Given the description of an element on the screen output the (x, y) to click on. 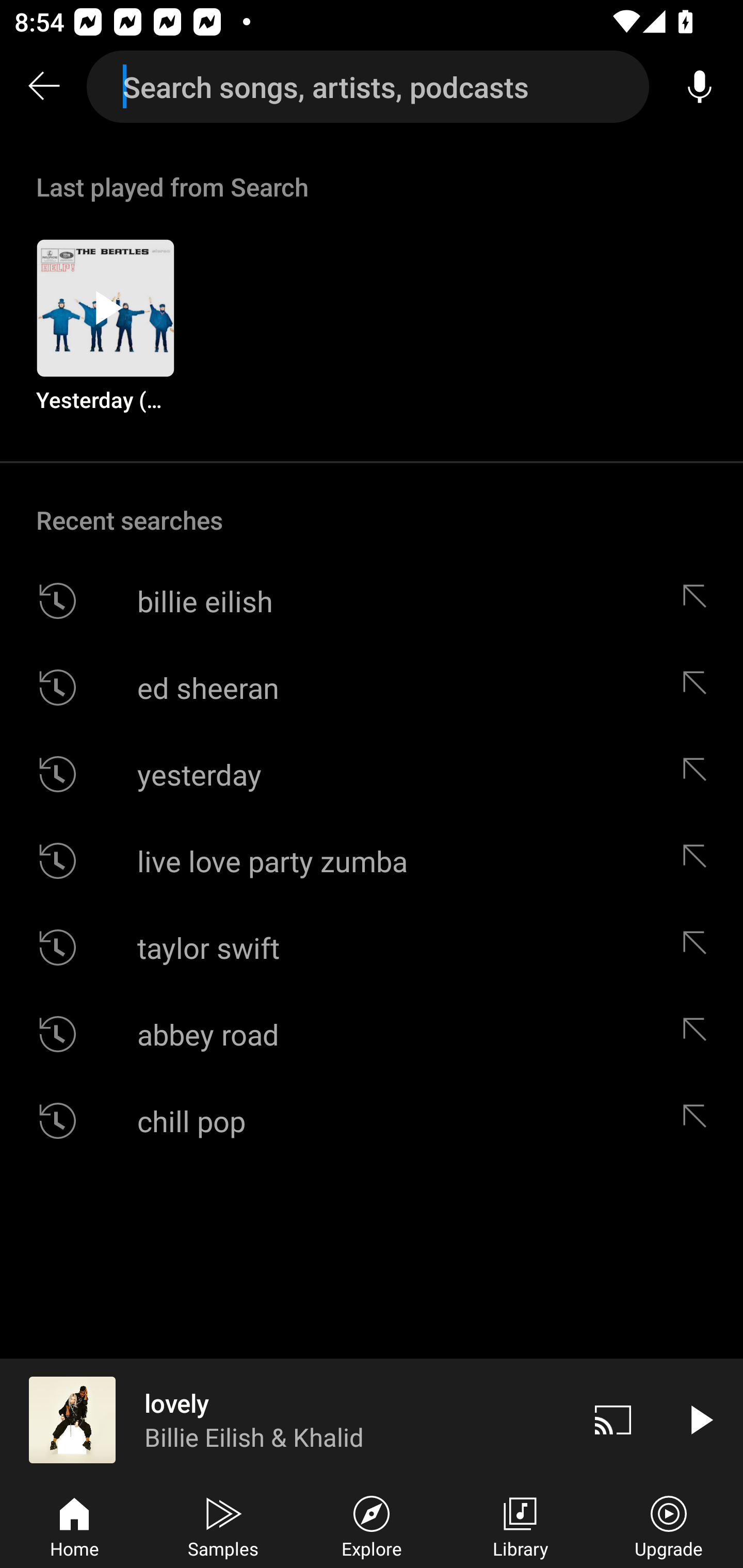
Search back (43, 86)
Search songs, artists, podcasts (367, 86)
Voice search (699, 86)
billie eilish Edit suggestion billie eilish (371, 601)
Edit suggestion billie eilish (699, 601)
ed sheeran Edit suggestion ed sheeran (371, 687)
Edit suggestion ed sheeran (699, 687)
yesterday Edit suggestion yesterday (371, 773)
Edit suggestion yesterday (699, 773)
Edit suggestion live love party zumba (699, 860)
taylor swift Edit suggestion taylor swift (371, 947)
Edit suggestion taylor swift (699, 947)
abbey road Edit suggestion abbey road (371, 1033)
Edit suggestion abbey road (699, 1033)
chill pop Edit suggestion chill pop (371, 1120)
Edit suggestion chill pop (699, 1120)
lovely Billie Eilish & Khalid (284, 1419)
Cast. Disconnected (612, 1419)
Play video (699, 1419)
Home (74, 1524)
Samples (222, 1524)
Explore (371, 1524)
Library (519, 1524)
Upgrade (668, 1524)
